Given the description of an element on the screen output the (x, y) to click on. 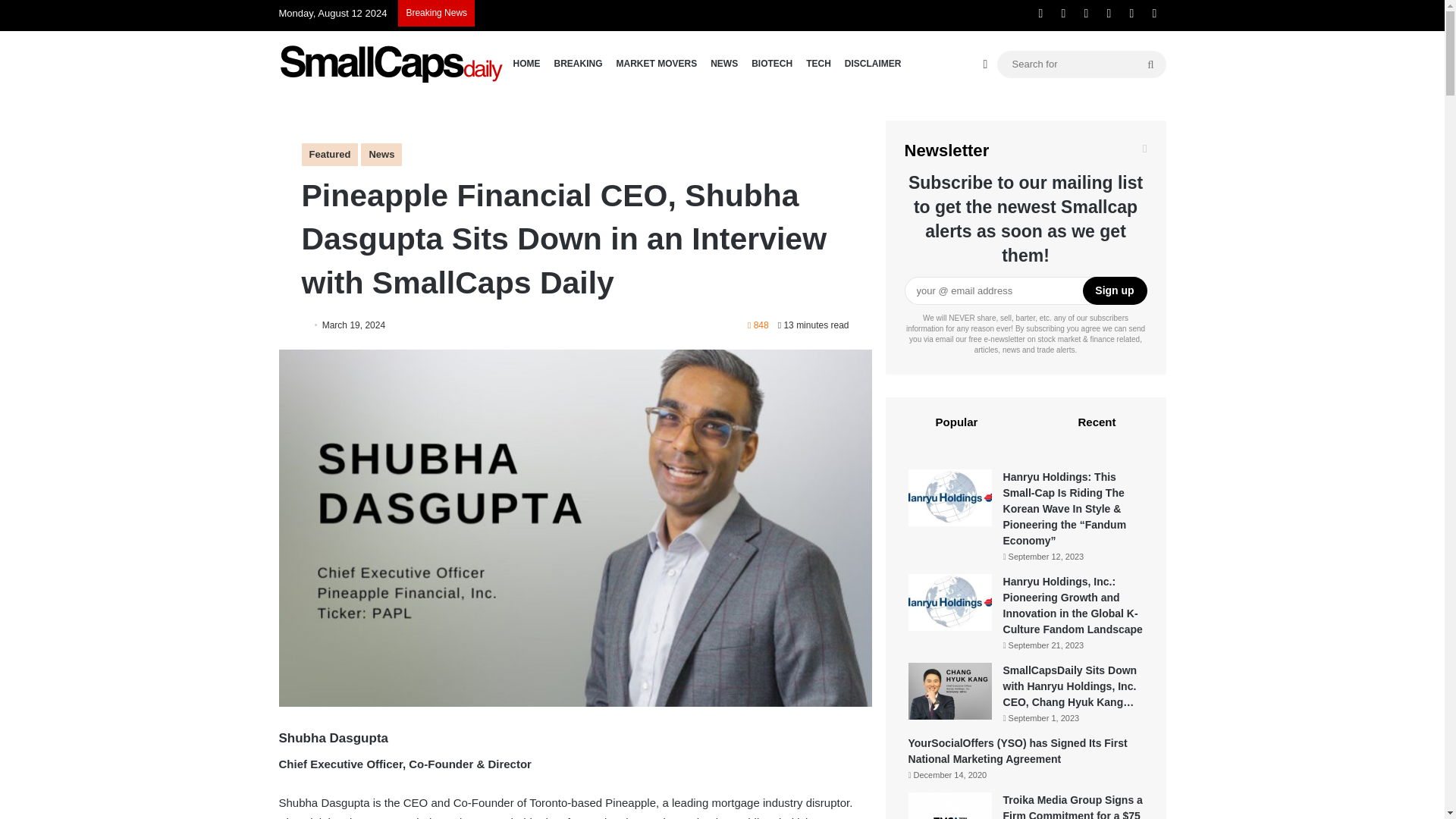
Featured (329, 154)
Search for (1080, 63)
DISCLAIMER (873, 63)
MARKET MOVERS (657, 63)
SmallCapsDaily (392, 63)
Sign up (1115, 290)
News (381, 154)
Search for (1150, 62)
BREAKING (578, 63)
